Given the description of an element on the screen output the (x, y) to click on. 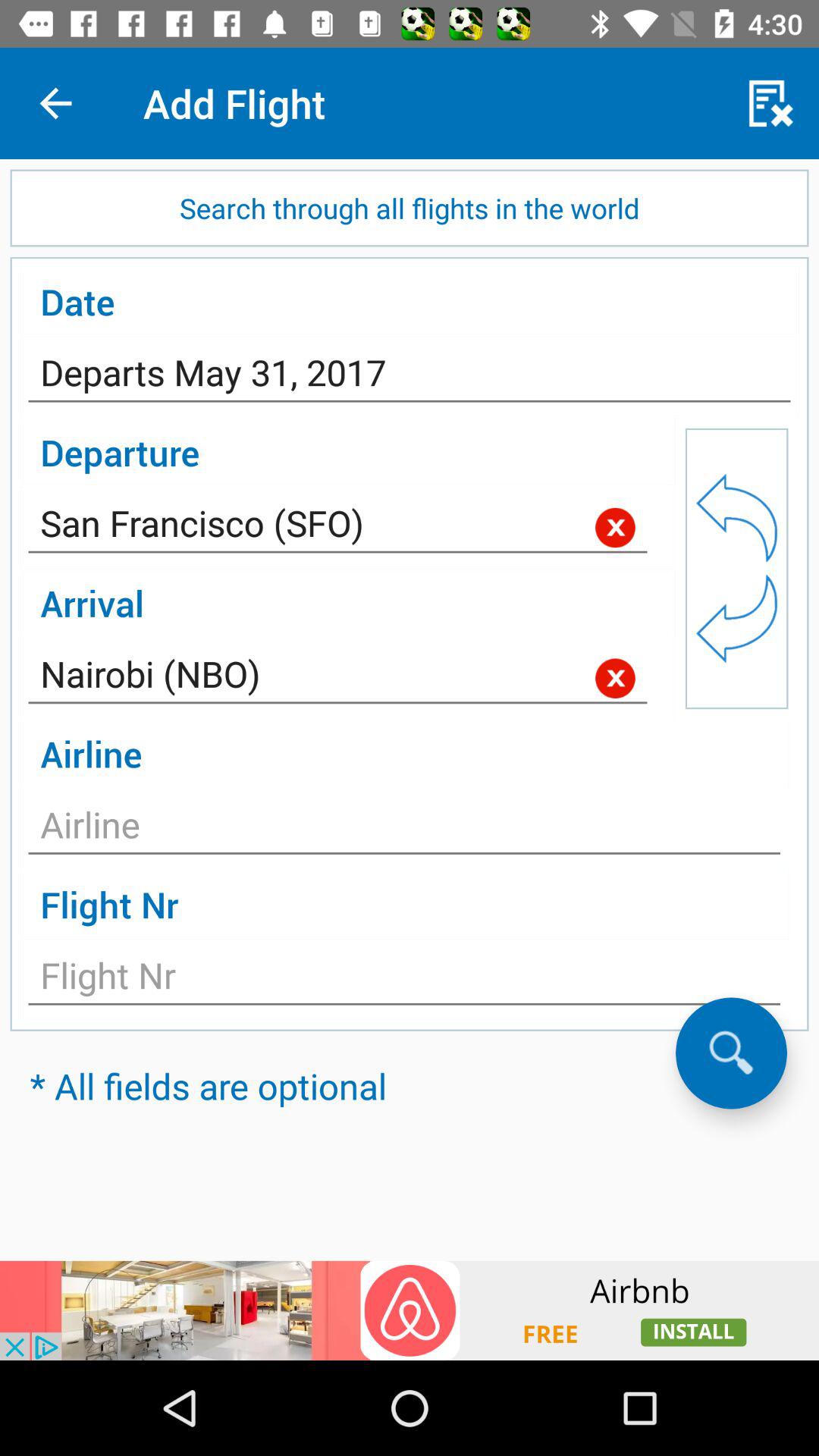
choose airline (404, 829)
